Given the description of an element on the screen output the (x, y) to click on. 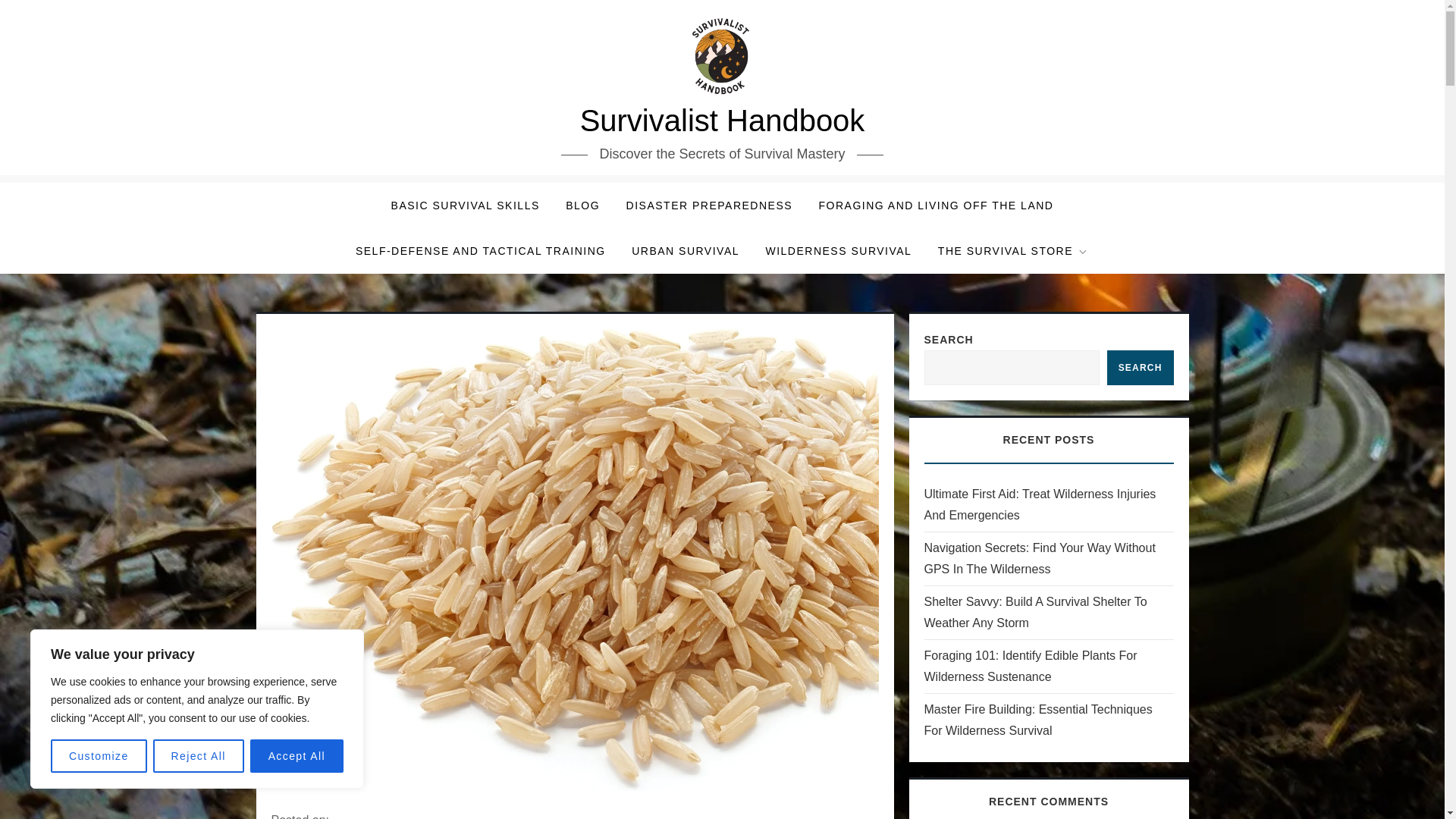
BASIC SURVIVAL SKILLS (465, 205)
WILDERNESS SURVIVAL (838, 250)
URBAN SURVIVAL (685, 250)
Accept All (296, 756)
Reject All (198, 756)
SELF-DEFENSE AND TACTICAL TRAINING (480, 250)
Customize (98, 756)
THE SURVIVAL STORE (1013, 250)
FORAGING AND LIVING OFF THE LAND (936, 205)
Survivalist Handbook (721, 120)
